Given the description of an element on the screen output the (x, y) to click on. 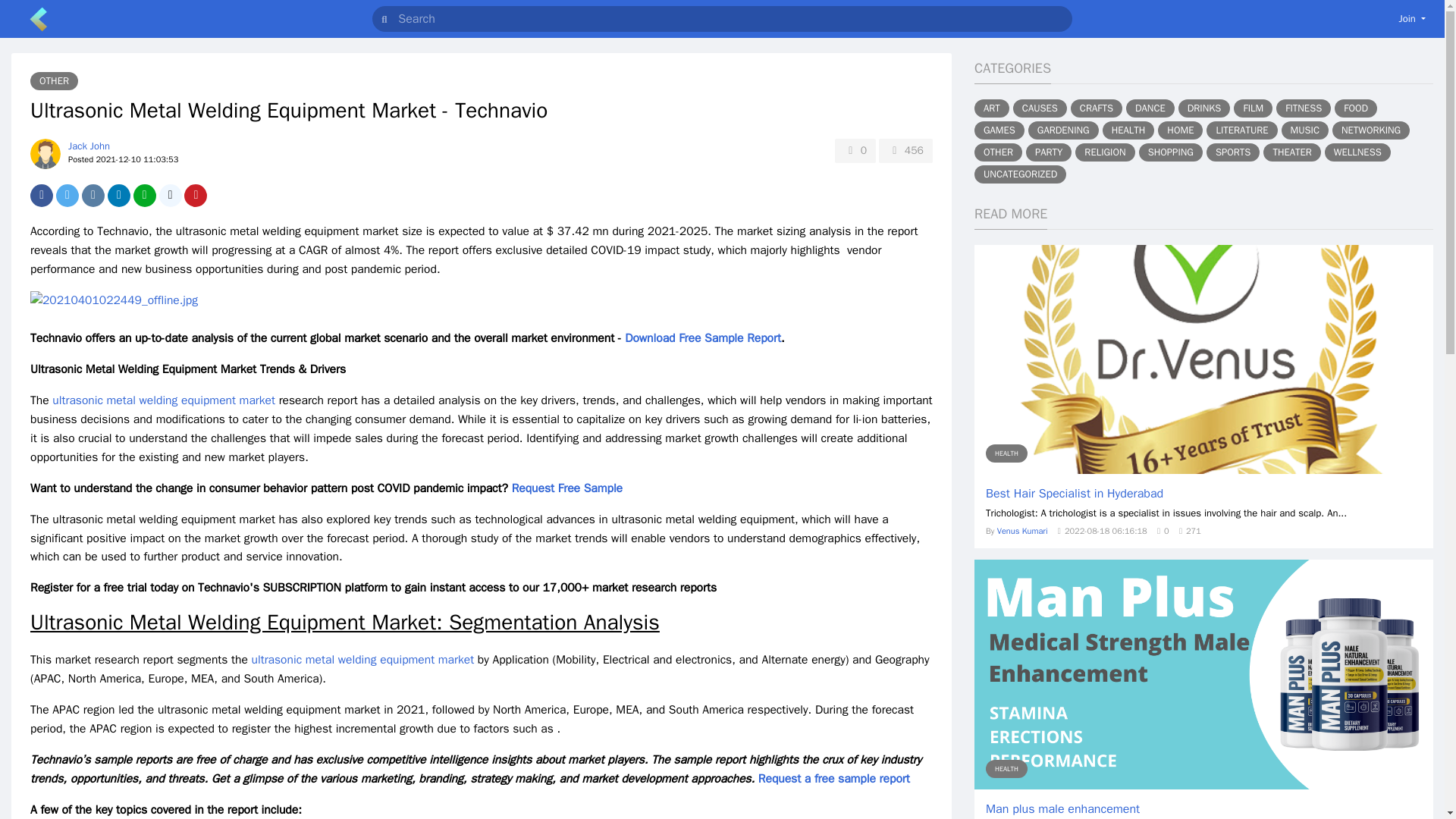
CRAFTS (1096, 108)
Request Free Sample (567, 488)
NETWORKING (1370, 130)
FITNESS (1303, 108)
Download Free Sample Report (702, 337)
FILM (1252, 108)
ART (991, 108)
0 (855, 150)
ultrasonic metal welding equipment market (362, 659)
LITERATURE (1241, 130)
